Given the description of an element on the screen output the (x, y) to click on. 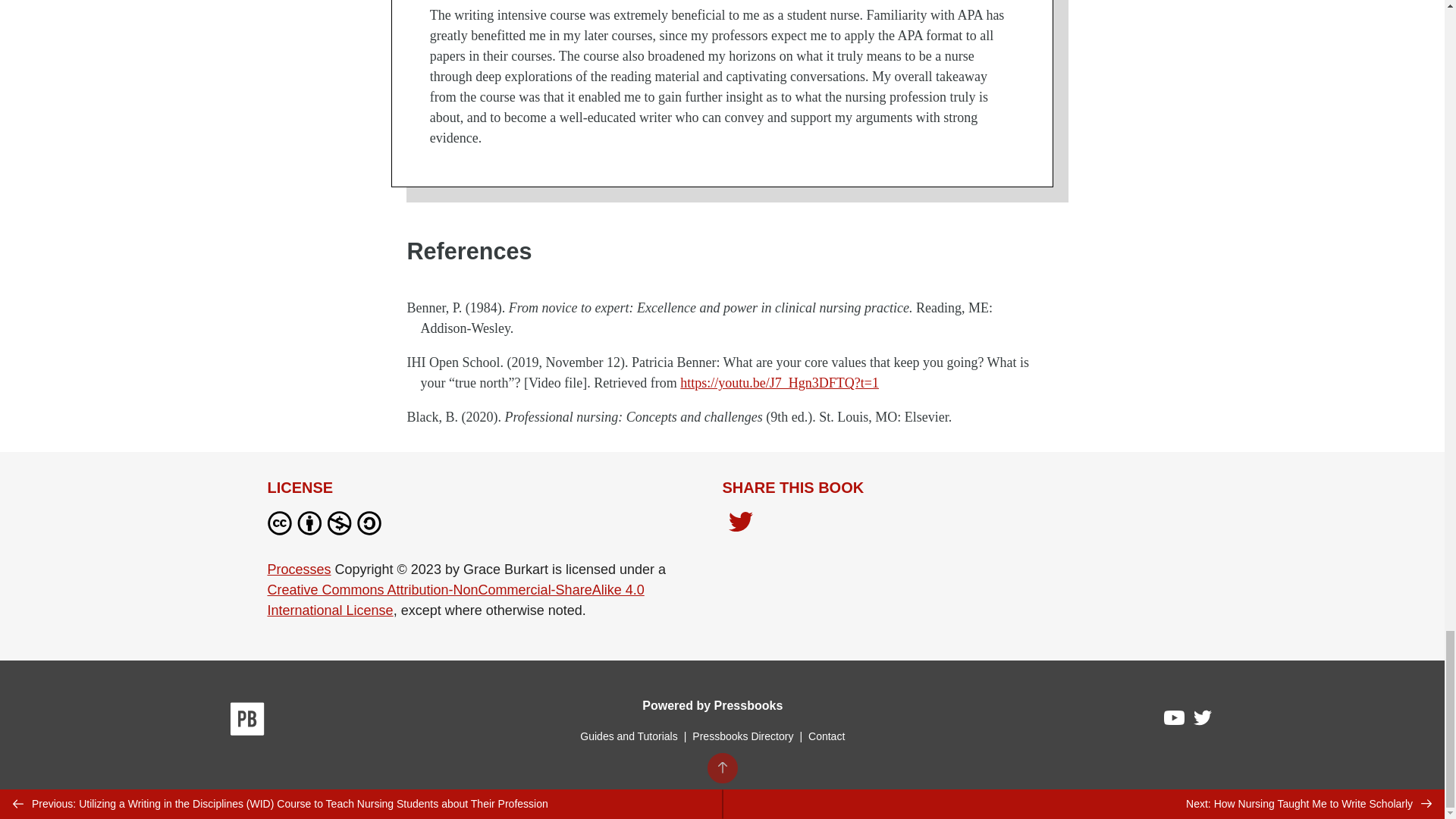
Share on Twitter (740, 523)
Pressbooks Directory (742, 736)
Processes (298, 569)
Share on Twitter (740, 525)
Pressbooks on YouTube (1174, 721)
Guides and Tutorials (627, 736)
Powered by Pressbooks (712, 705)
Contact (826, 736)
